Given the description of an element on the screen output the (x, y) to click on. 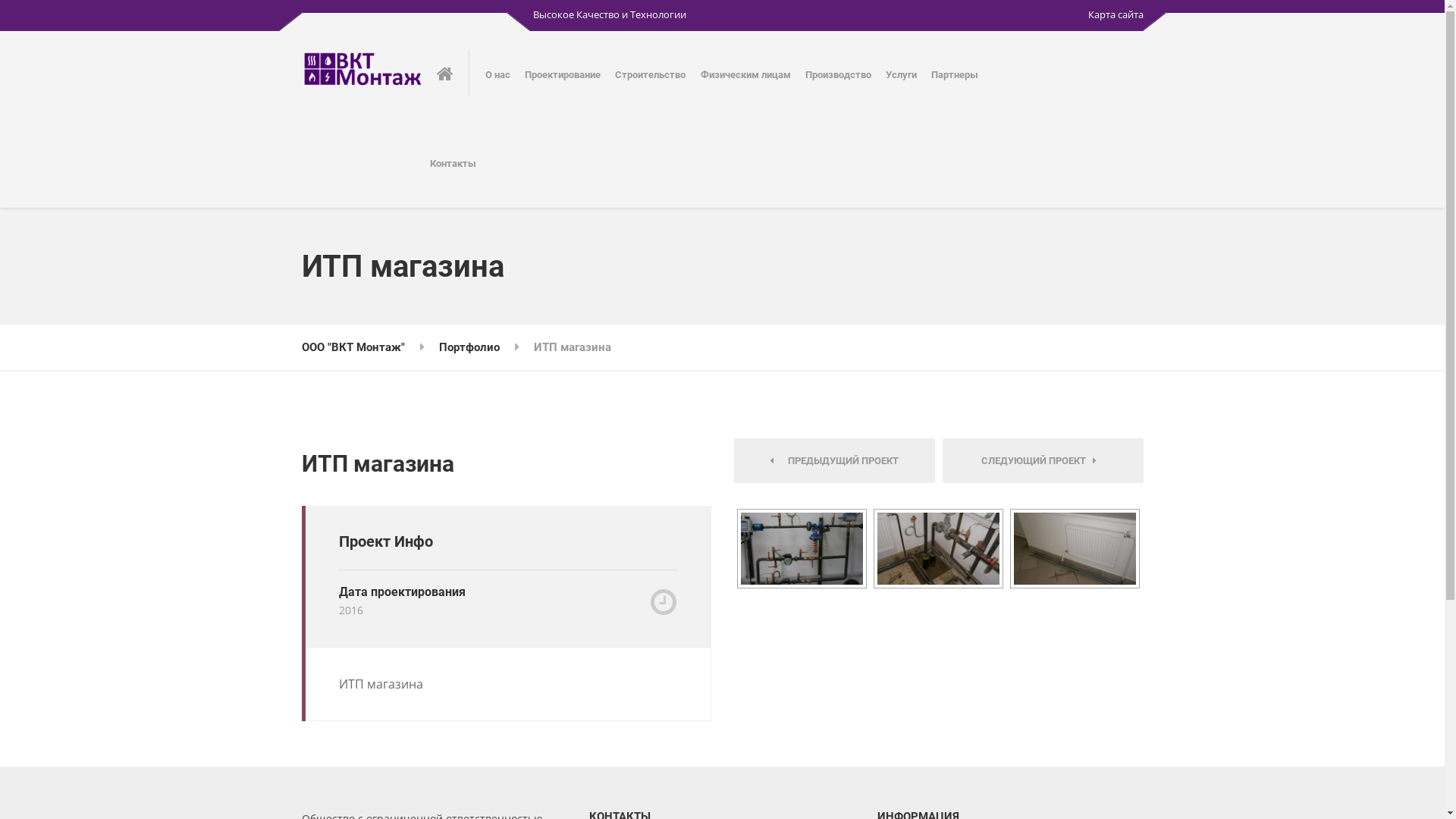
OLYMPUS DIGITAL CAMERA Element type: hover (801, 547)
OLYMPUS DIGITAL CAMERA Element type: hover (936, 547)
OLYMPUS DIGITAL CAMERA Element type: hover (1073, 547)
OLYMPUS DIGITAL CAMERA Element type: hover (938, 547)
OLYMPUS DIGITAL CAMERA Element type: hover (1074, 547)
OLYMPUS DIGITAL CAMERA Element type: hover (800, 547)
